Given the description of an element on the screen output the (x, y) to click on. 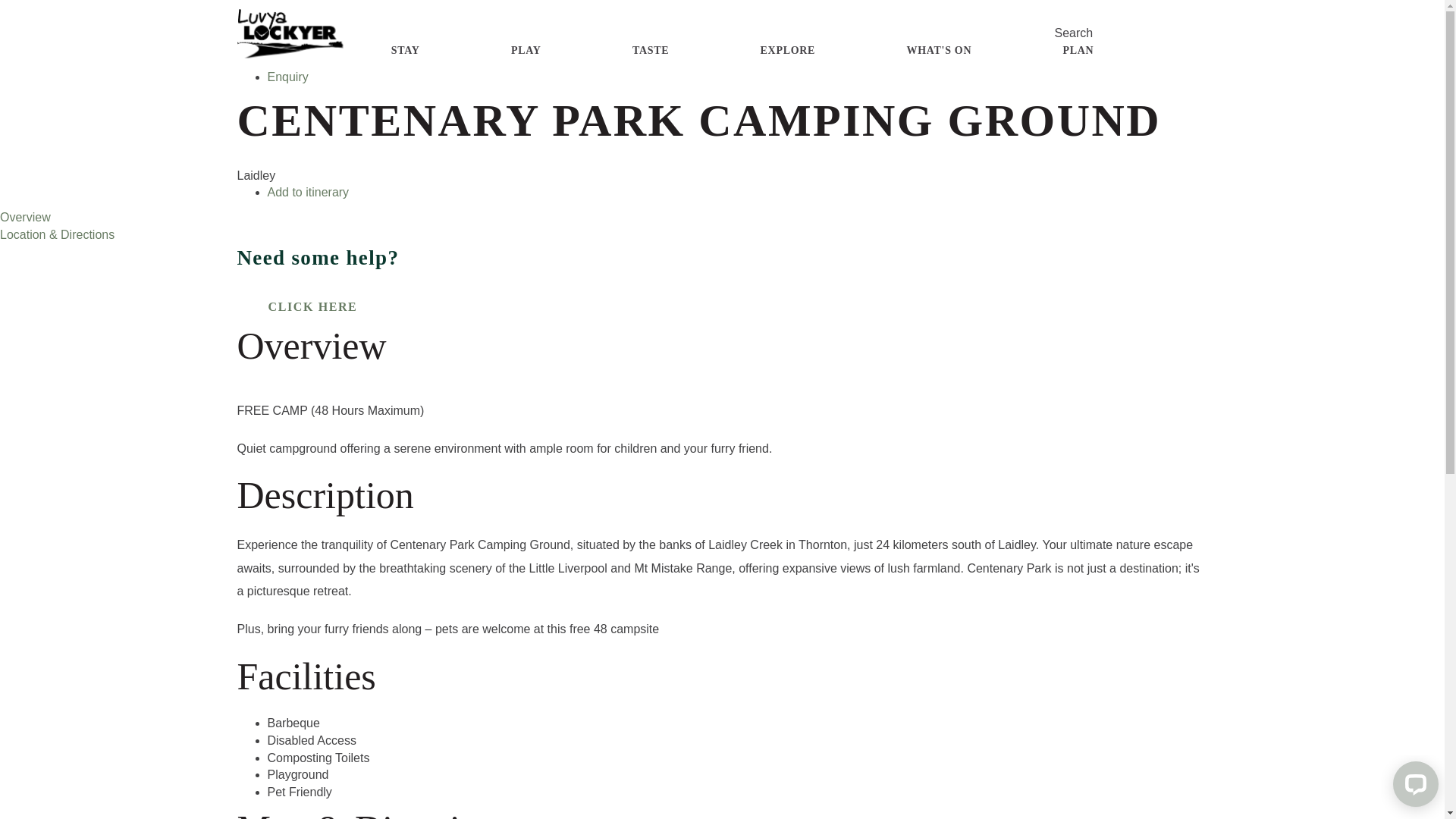
Enquiry Element type: text (286, 76)
Facilities Element type: text (289, 42)
Overview Element type: text (25, 216)
Location & Directions Element type: text (57, 234)
STAY Element type: text (405, 50)
TASTE Element type: text (650, 50)
EXPLORE Element type: text (787, 50)
PLAY Element type: text (526, 50)
PLAN Element type: text (1078, 50)
Overview Element type: text (291, 24)
Map Element type: text (278, 59)
CLICK HERE Element type: text (312, 307)
WHAT'S ON Element type: text (938, 50)
Gallery Element type: text (285, 7)
Add to itinerary Element type: text (307, 191)
